Given the description of an element on the screen output the (x, y) to click on. 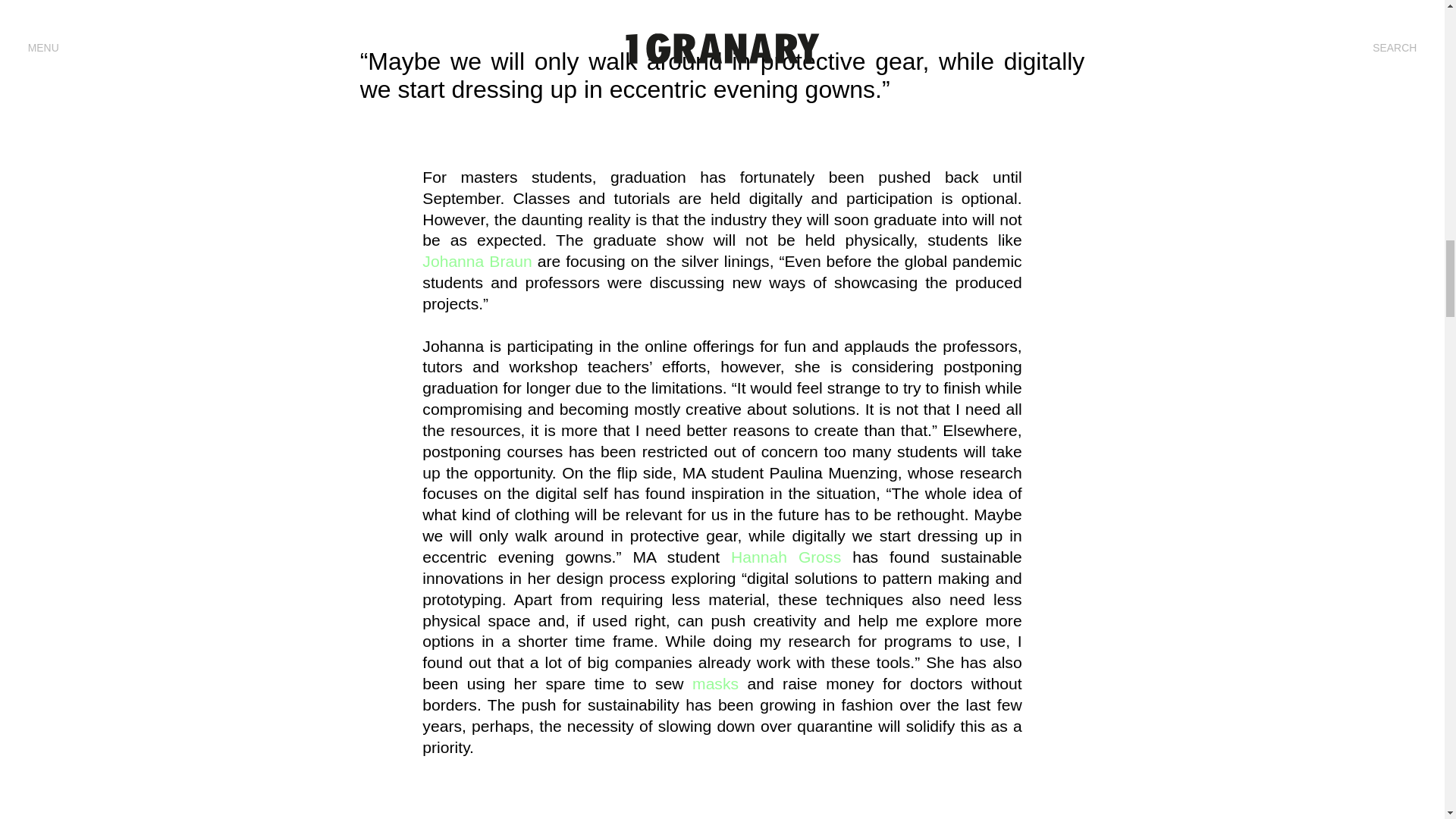
Hannah Gross (785, 556)
masks (715, 683)
Johanna Braun (476, 261)
